Given the description of an element on the screen output the (x, y) to click on. 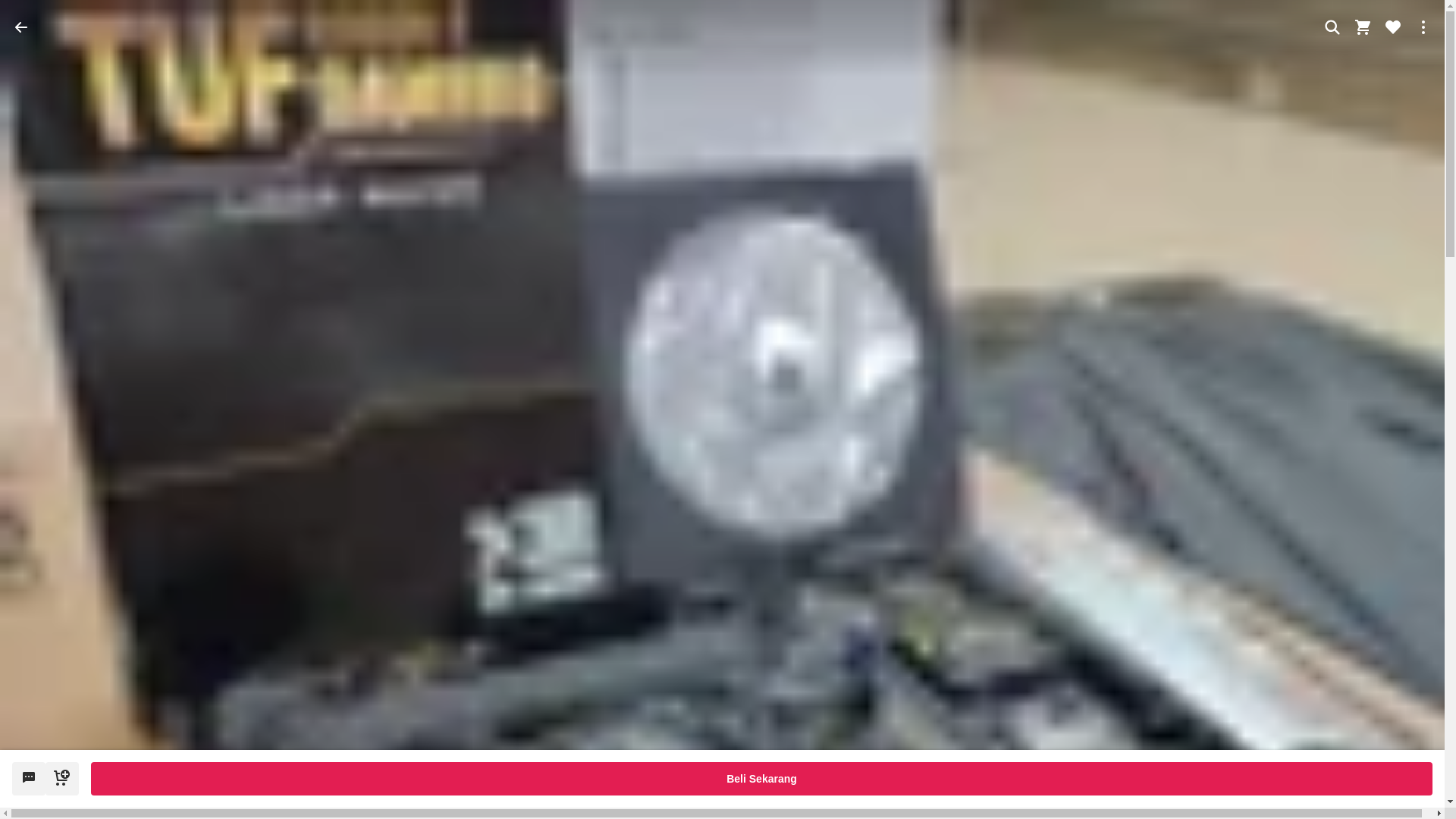
Beli Sekarang (761, 778)
